Given the description of an element on the screen output the (x, y) to click on. 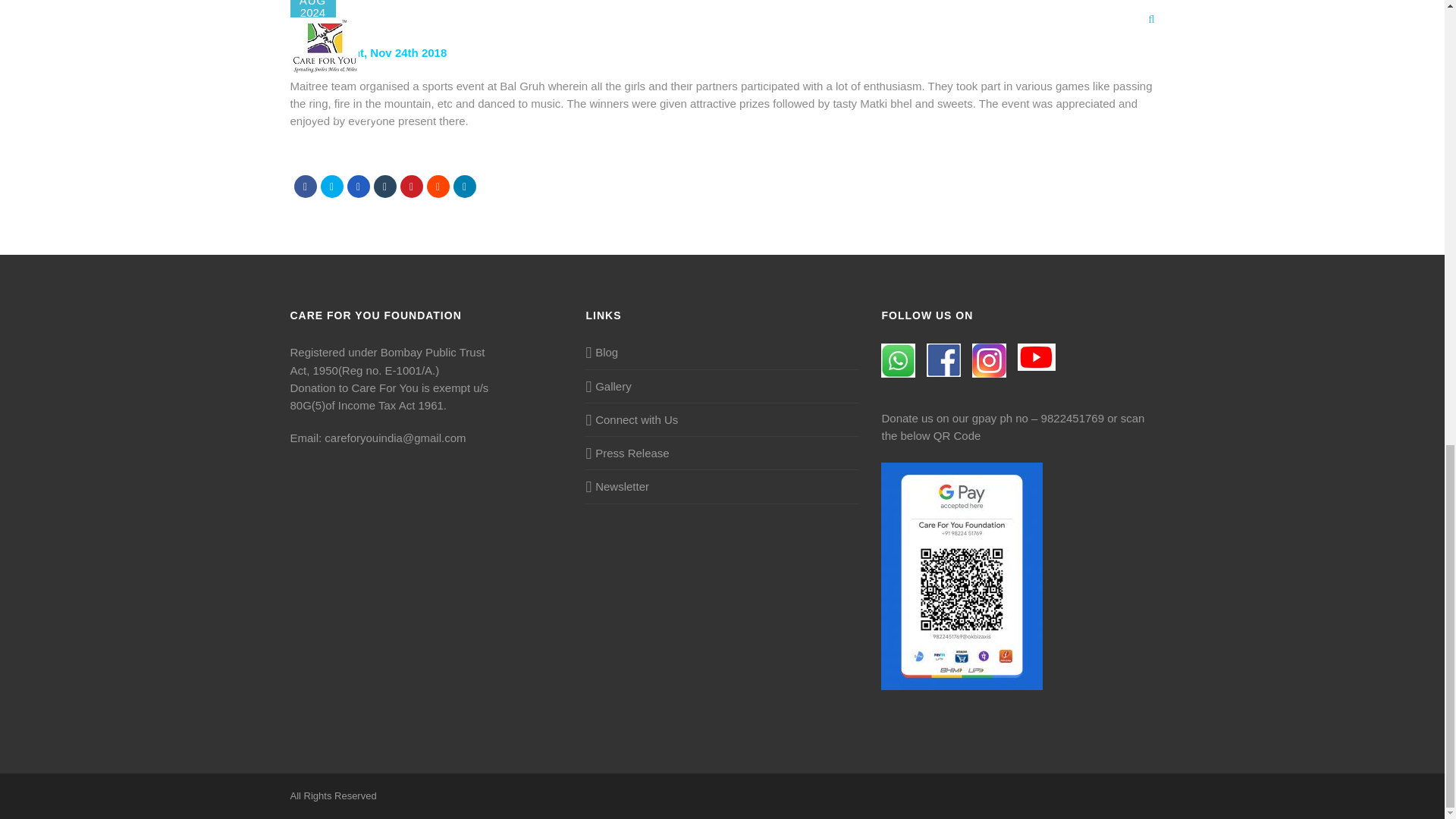
Share on Linkedin (437, 186)
Share on Linkedin (464, 186)
Tweet (331, 186)
Pin it (411, 186)
Post to Tumblr (384, 186)
Share on Facebook (305, 186)
